Given the description of an element on the screen output the (x, y) to click on. 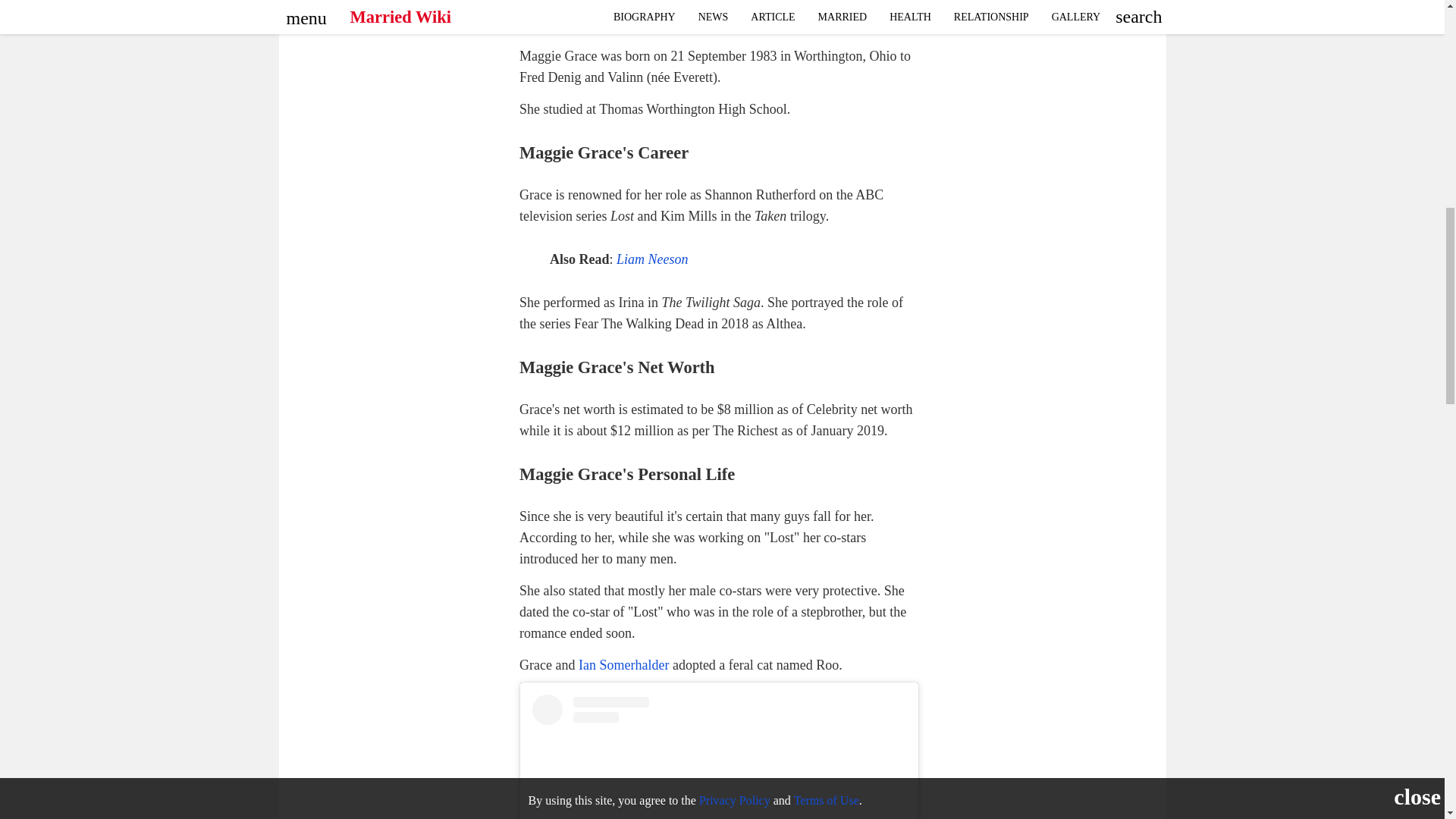
Liam Neeson (651, 258)
